Given the description of an element on the screen output the (x, y) to click on. 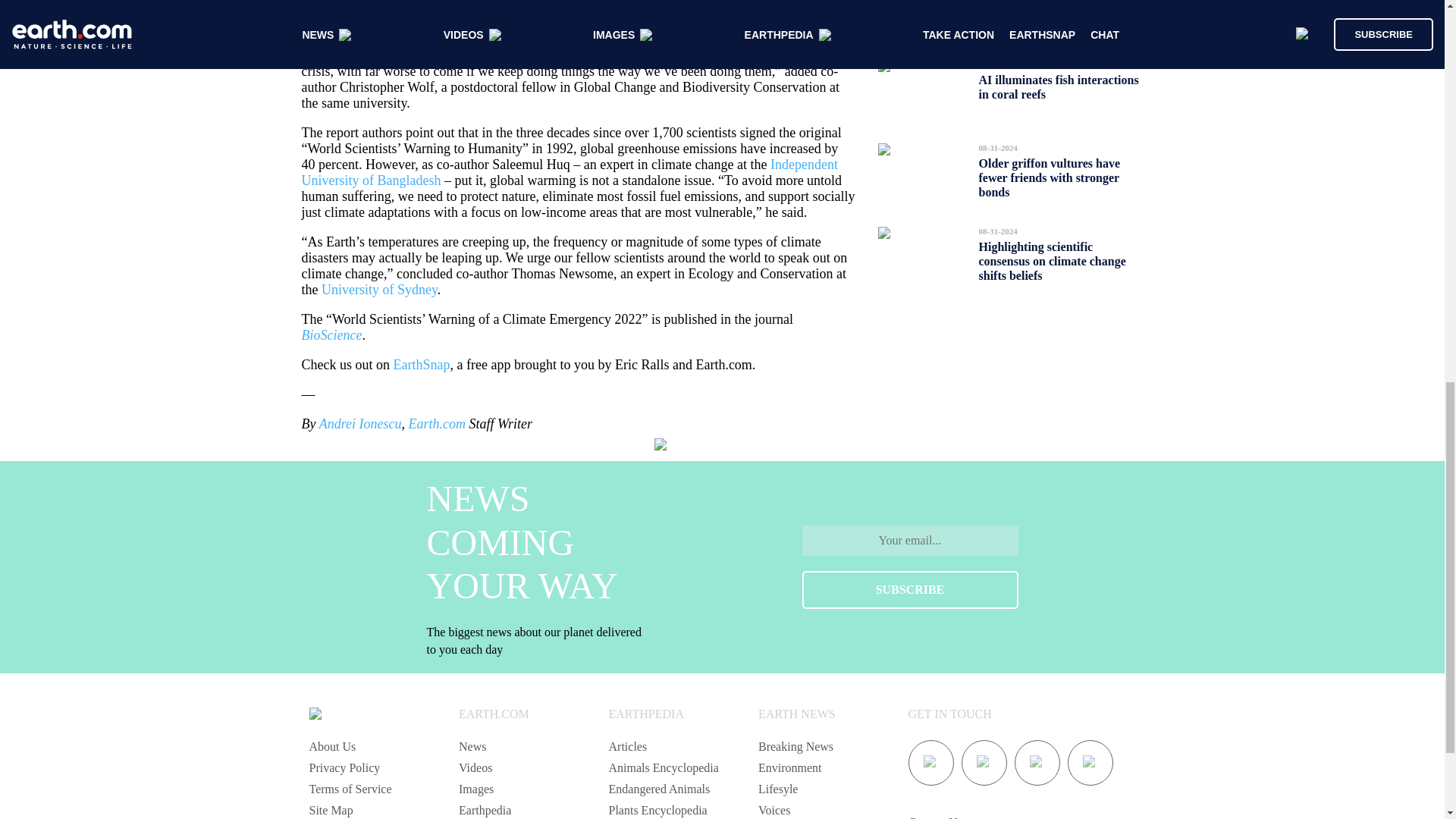
How tiny aerosols in sea spray influence Earth's climate (1056, 12)
Independent University of Bangladesh (569, 172)
BioScience (331, 335)
Andrei Ionescu (359, 423)
AI illuminates fish interactions in coral reefs (1058, 87)
University of Sydney (379, 289)
EarthSnap (421, 364)
Earth.com (436, 423)
